Given the description of an element on the screen output the (x, y) to click on. 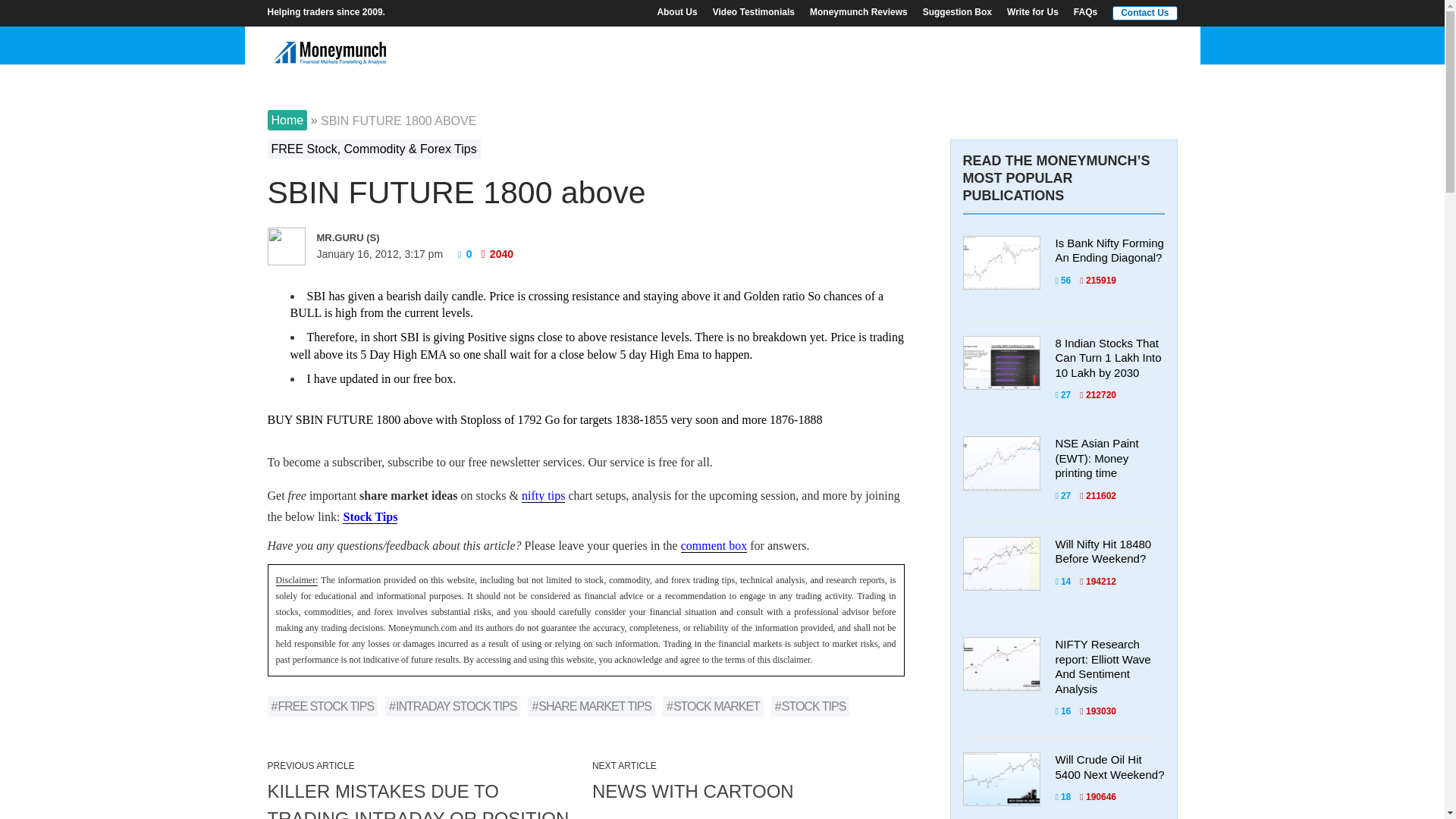
View Is Bank Nifty Forming An Ending Diagonal? (1109, 250)
FAQs (1085, 11)
Comments (1067, 395)
Moneymunch Reviews (858, 11)
Contact Us (1141, 12)
Write something about this Article (714, 545)
PRICING PLANS (802, 45)
Views (1098, 280)
PMS (883, 45)
